Given the description of an element on the screen output the (x, y) to click on. 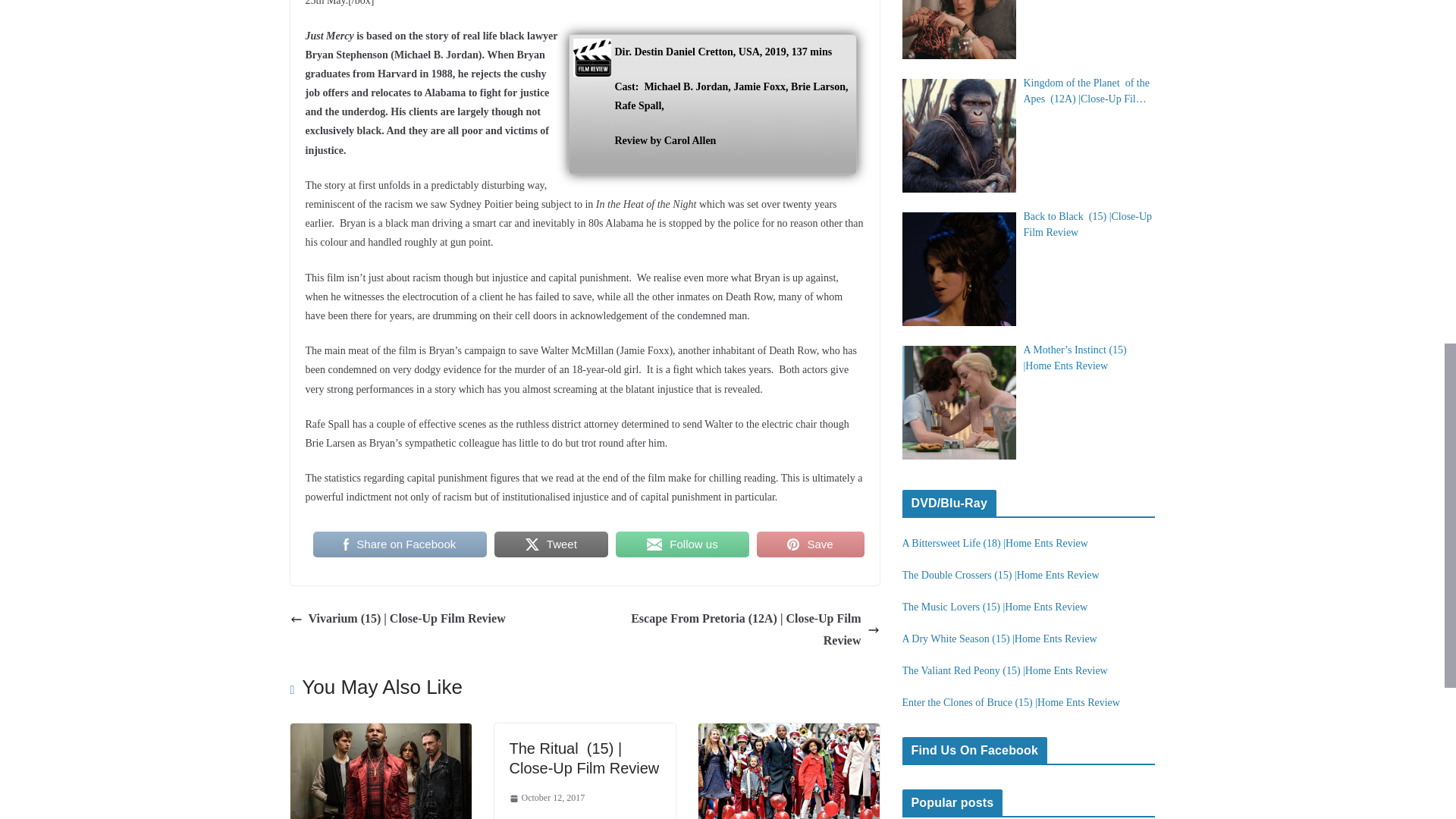
Tweet (551, 543)
Share on Facebook (399, 543)
Follow us (682, 543)
Save (810, 543)
